Given the description of an element on the screen output the (x, y) to click on. 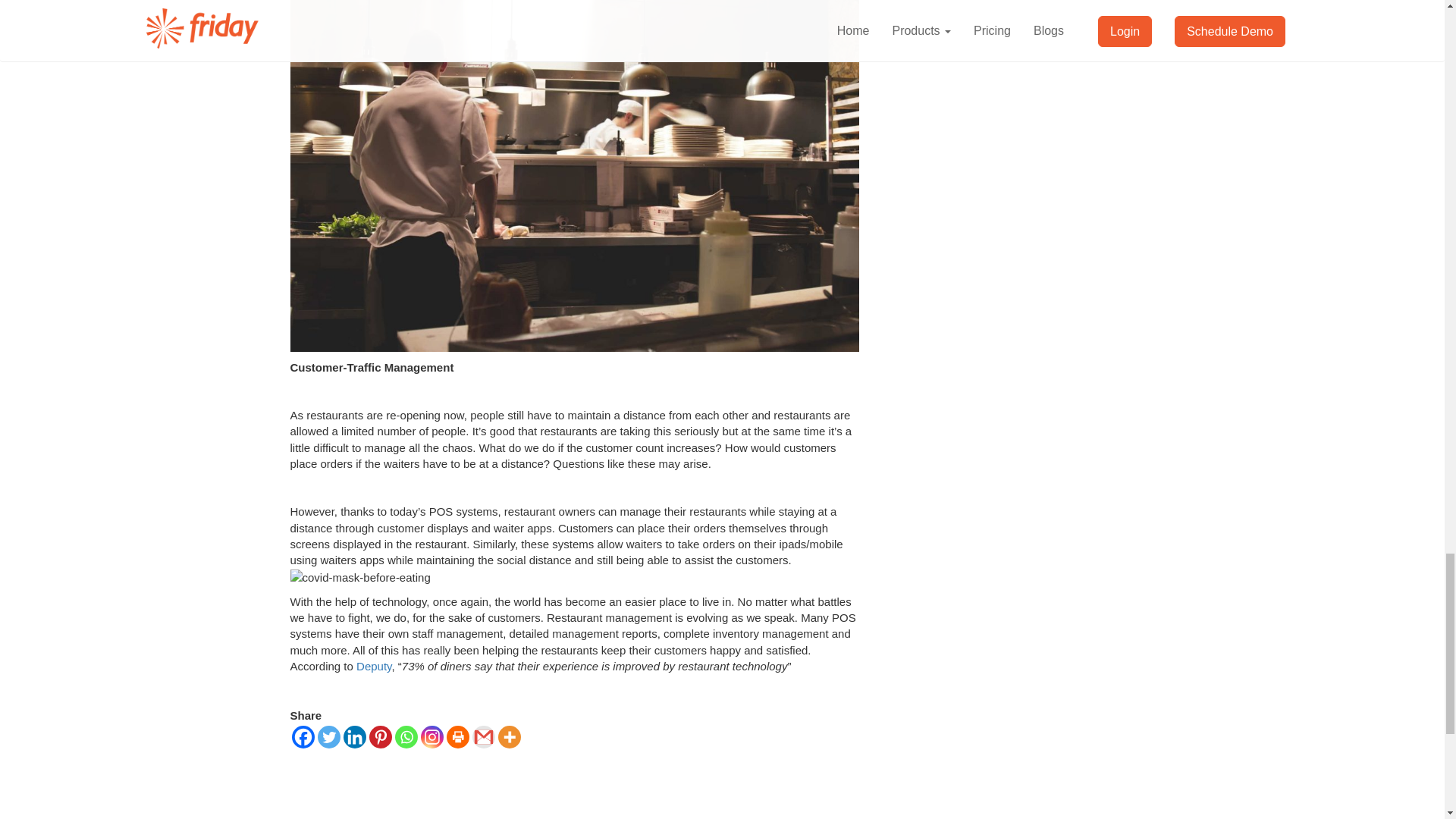
Linkedin (353, 736)
Facebook (302, 736)
Instagram (431, 736)
Pinterest (379, 736)
Twitter (328, 736)
Deputy (373, 666)
Whatsapp (405, 736)
